Given the description of an element on the screen output the (x, y) to click on. 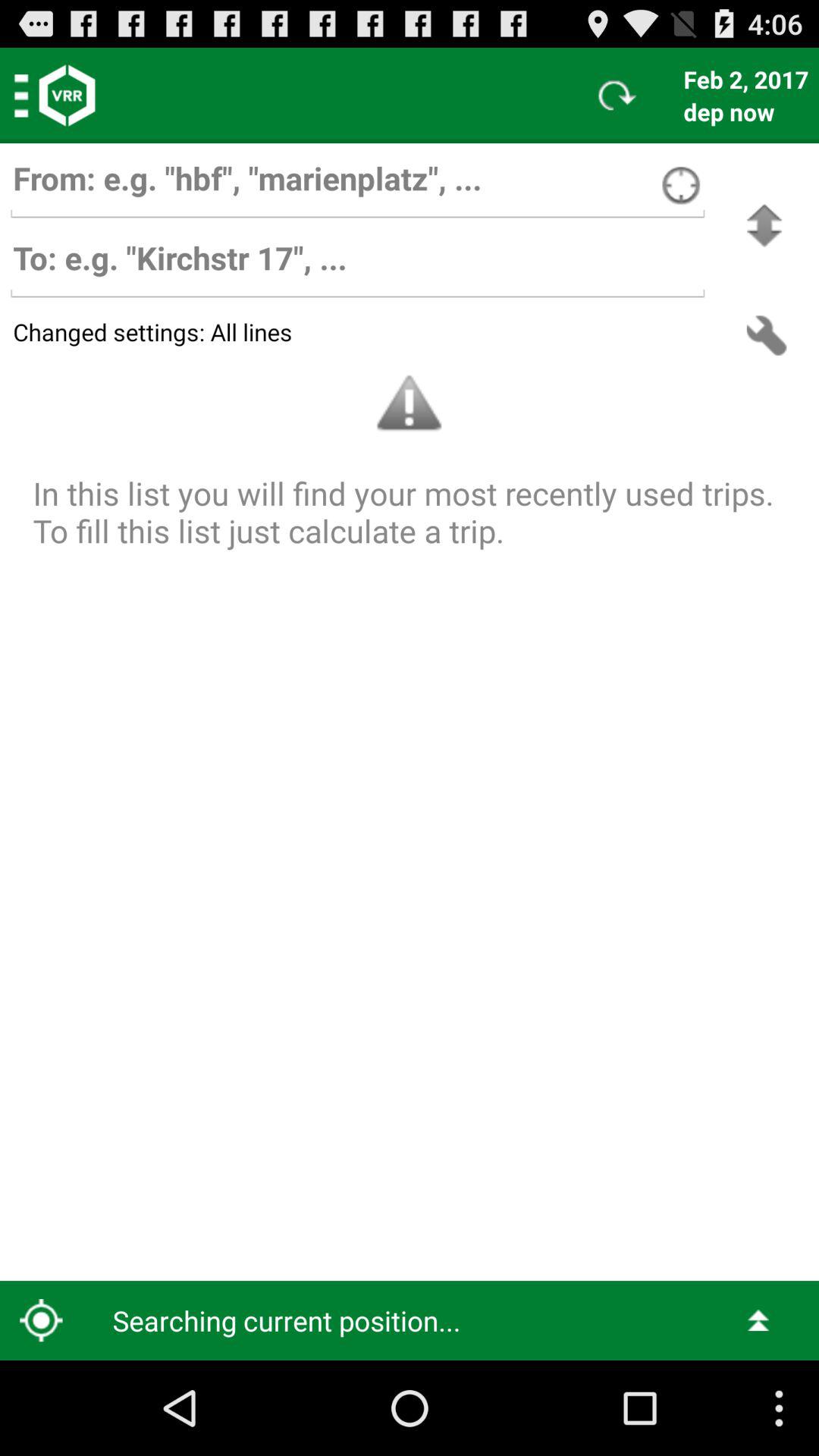
input text info search (357, 185)
